Given the description of an element on the screen output the (x, y) to click on. 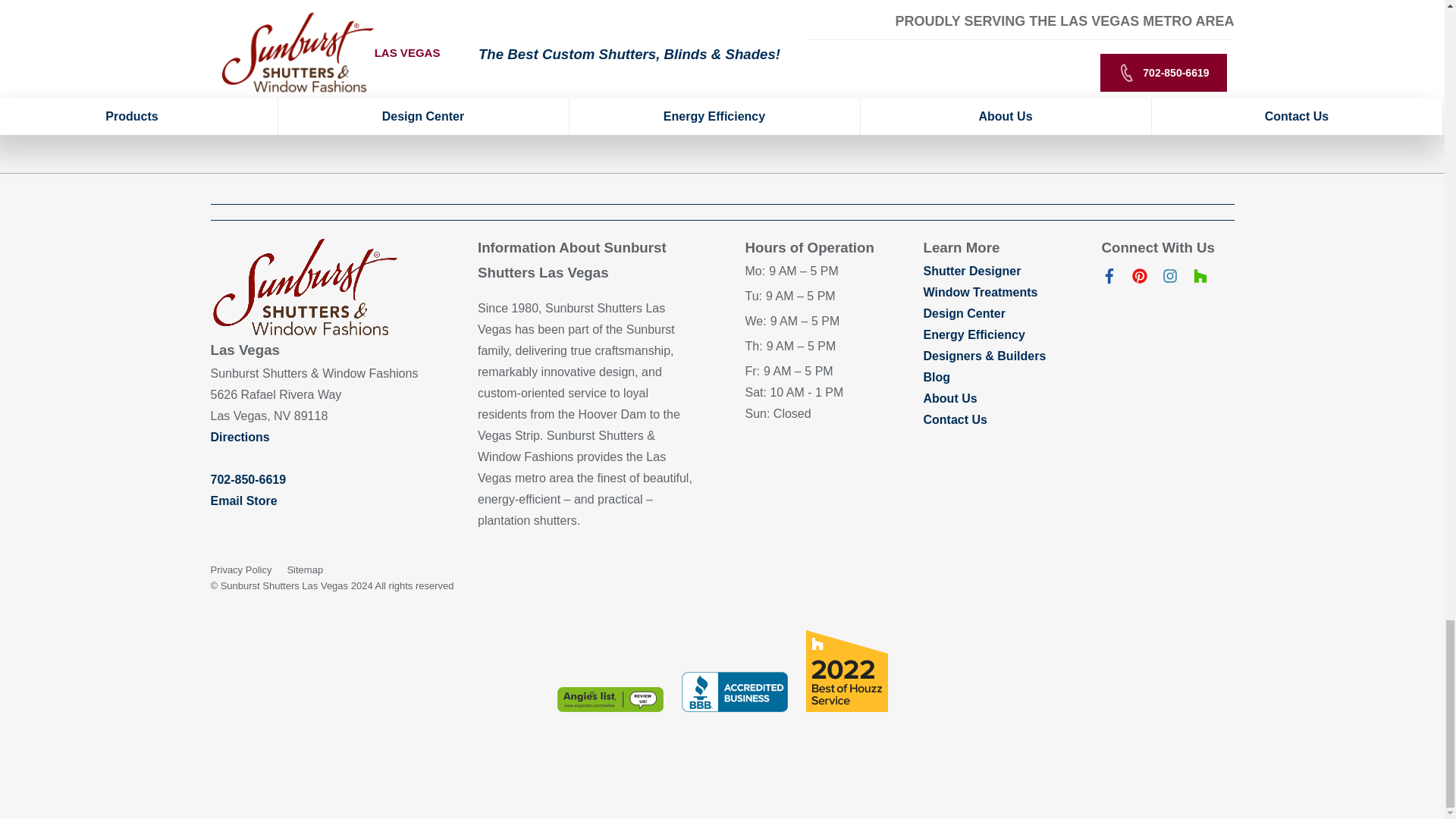
Review Us on Angies List! (609, 699)
Best of Houzz (845, 670)
BBB Accredited Business (734, 691)
Follow us on Instagram (1168, 278)
Save us on Houzz (1199, 278)
Follow us on Pinterest (1139, 278)
Like us on Facebook (1108, 278)
